Given the description of an element on the screen output the (x, y) to click on. 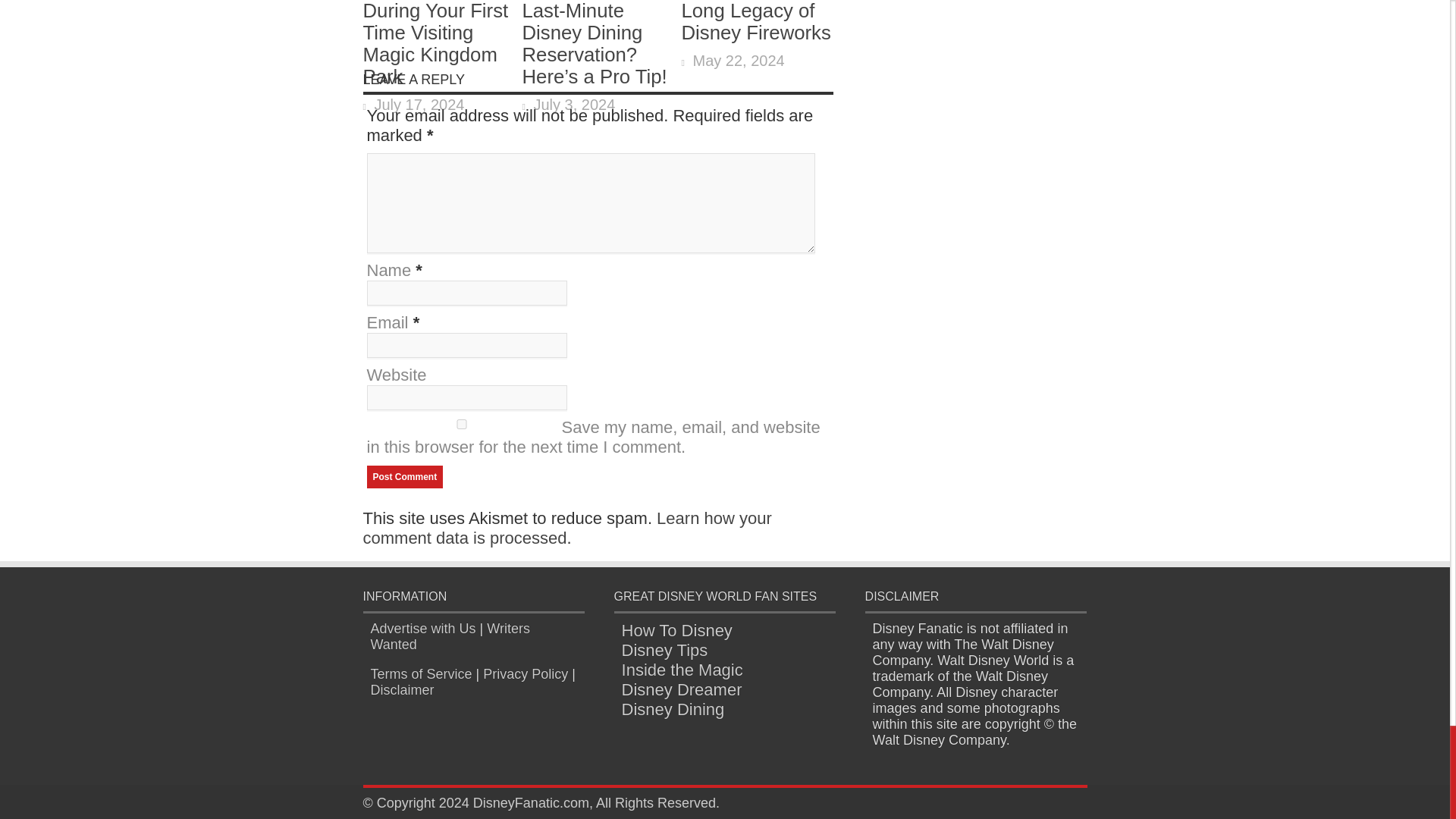
Post Comment (405, 477)
yes (461, 424)
